Given the description of an element on the screen output the (x, y) to click on. 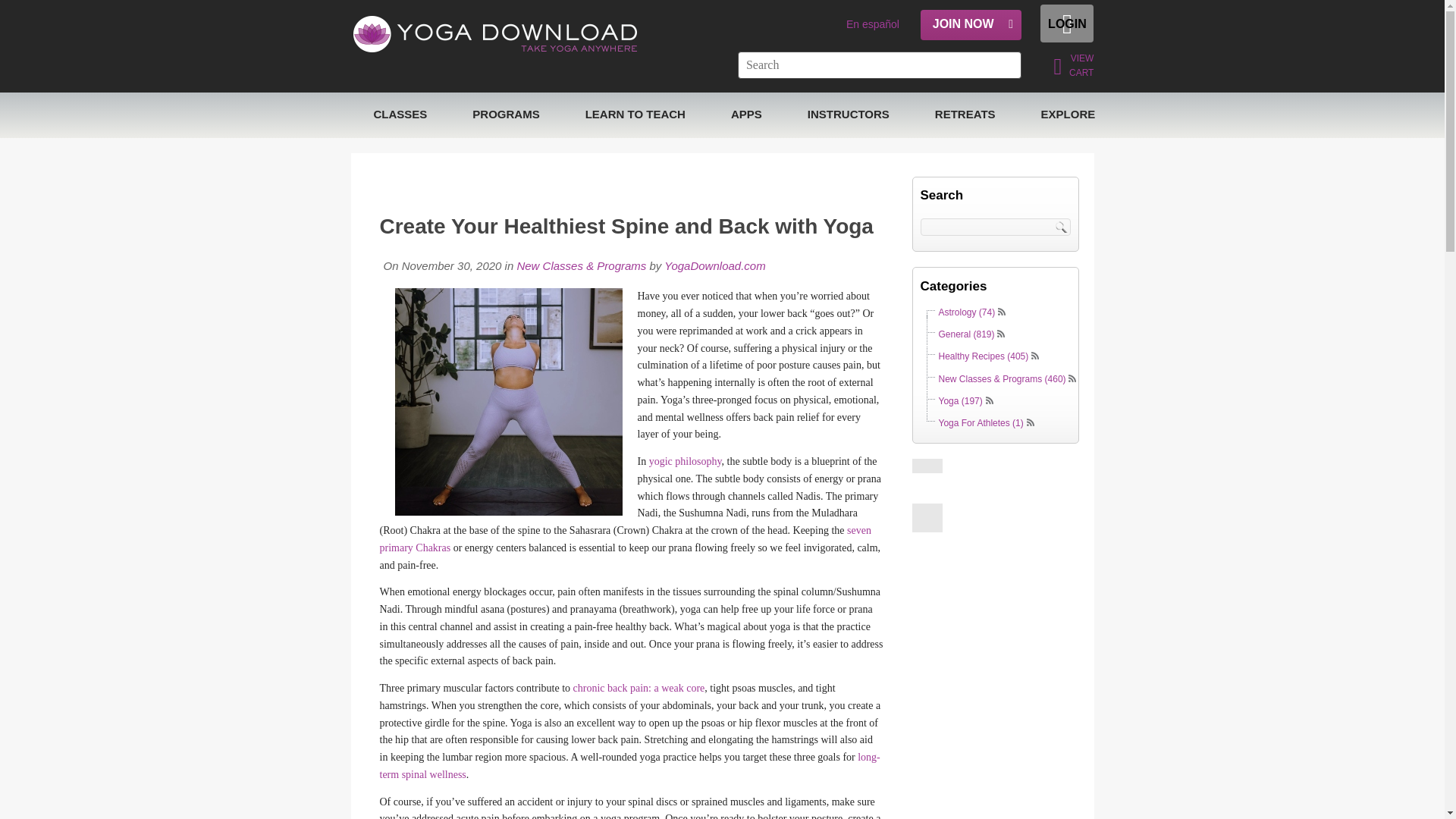
Search (1062, 226)
INSTRUCTORS (848, 115)
RETREATS (964, 115)
JOIN NOW (971, 24)
EXPLORE (1067, 115)
YogaDownload.com (713, 265)
APPS (745, 115)
Search (1062, 226)
LEARN TO TEACH (634, 115)
PROGRAMS (505, 115)
CLASSES (399, 115)
